Given the description of an element on the screen output the (x, y) to click on. 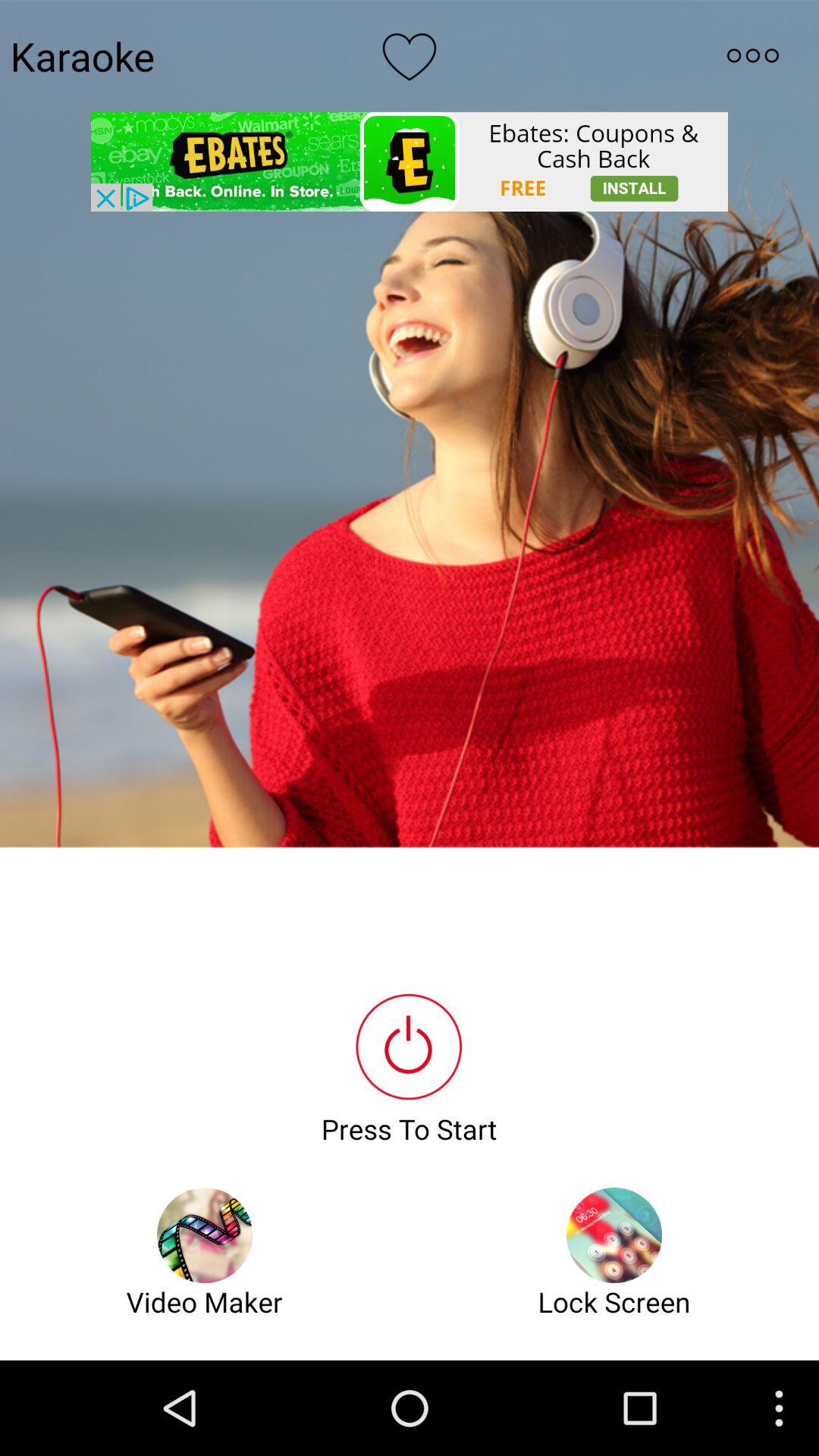
like the song (409, 55)
